Given the description of an element on the screen output the (x, y) to click on. 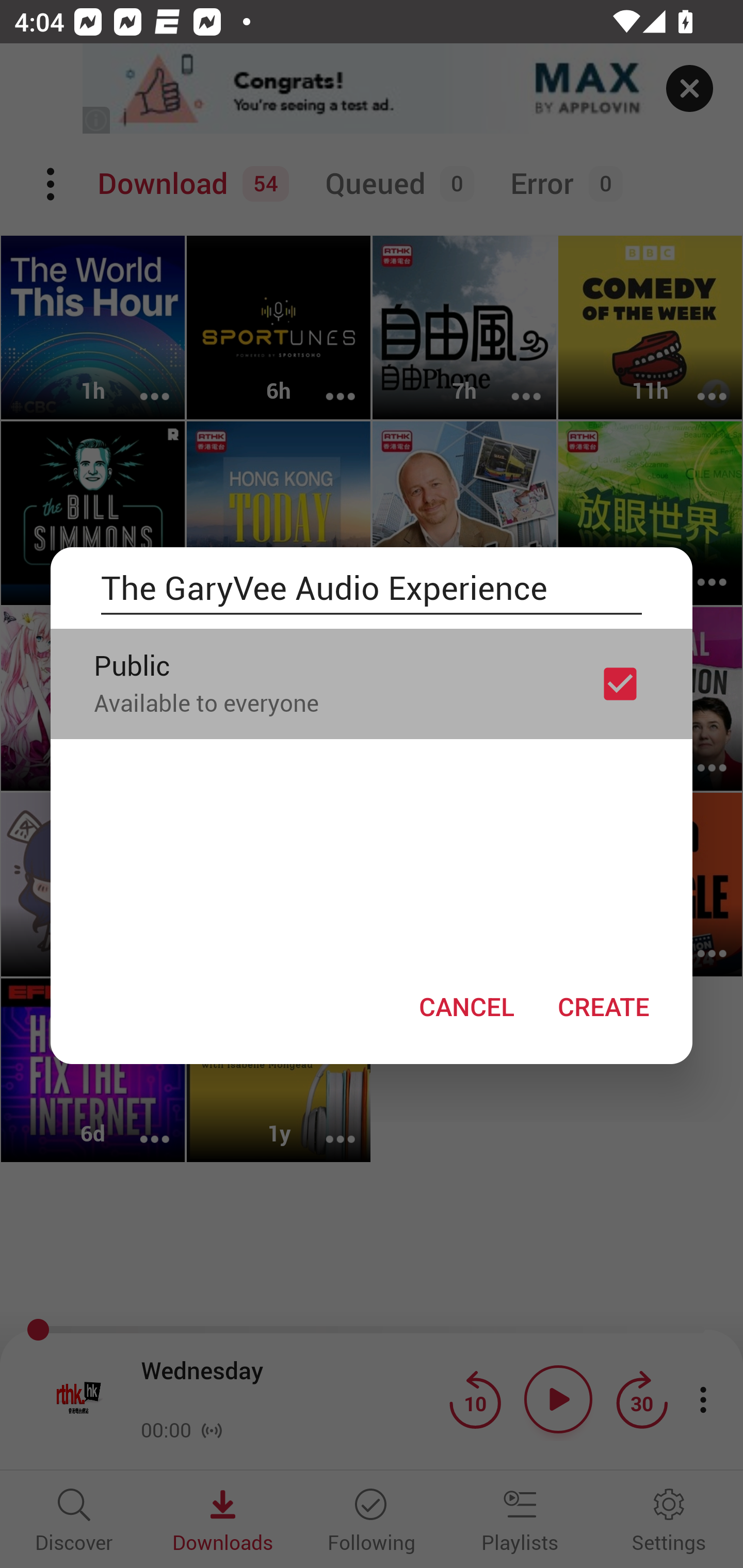
The GaryVee Audio Experience (371, 587)
Public Available to everyone (371, 683)
CANCEL (465, 1005)
CREATE (602, 1005)
